Given the description of an element on the screen output the (x, y) to click on. 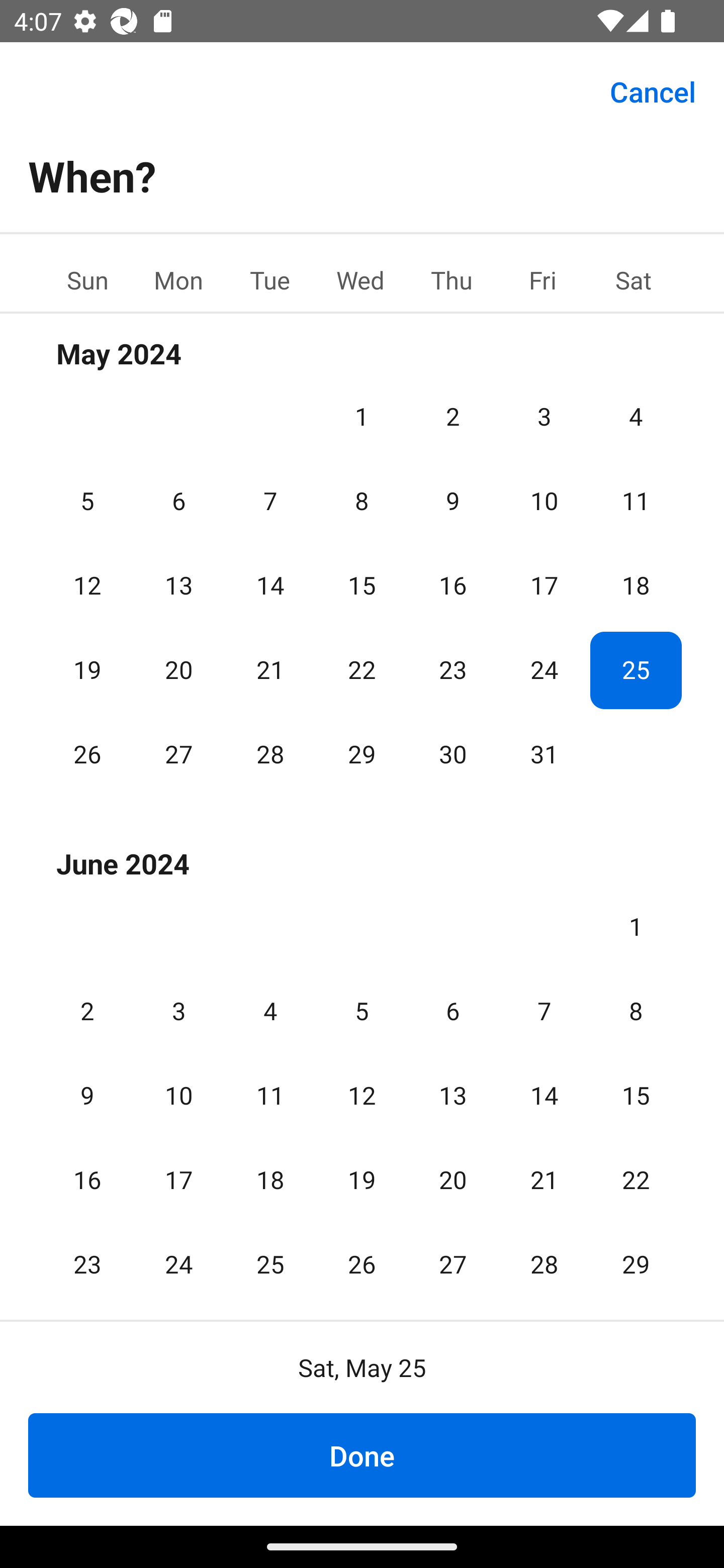
Cancel (652, 90)
Done (361, 1454)
